Given the description of an element on the screen output the (x, y) to click on. 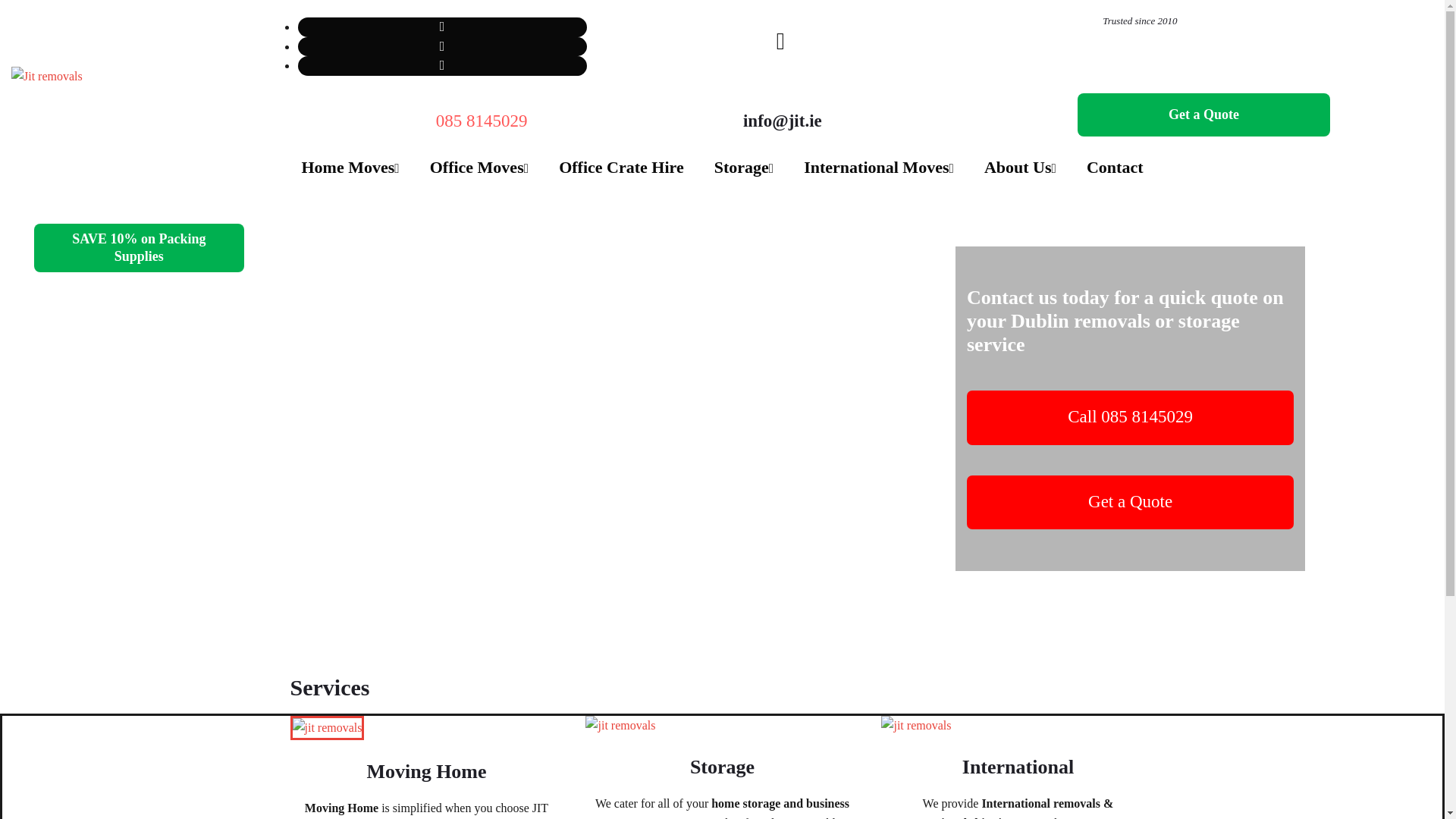
Home Moves (350, 167)
085 8145029 (481, 120)
Get a Quote (1203, 114)
Storage (743, 167)
Office Moves (478, 167)
International Moves (878, 167)
Office Crate Hire (621, 167)
About Us (1020, 167)
